Given the description of an element on the screen output the (x, y) to click on. 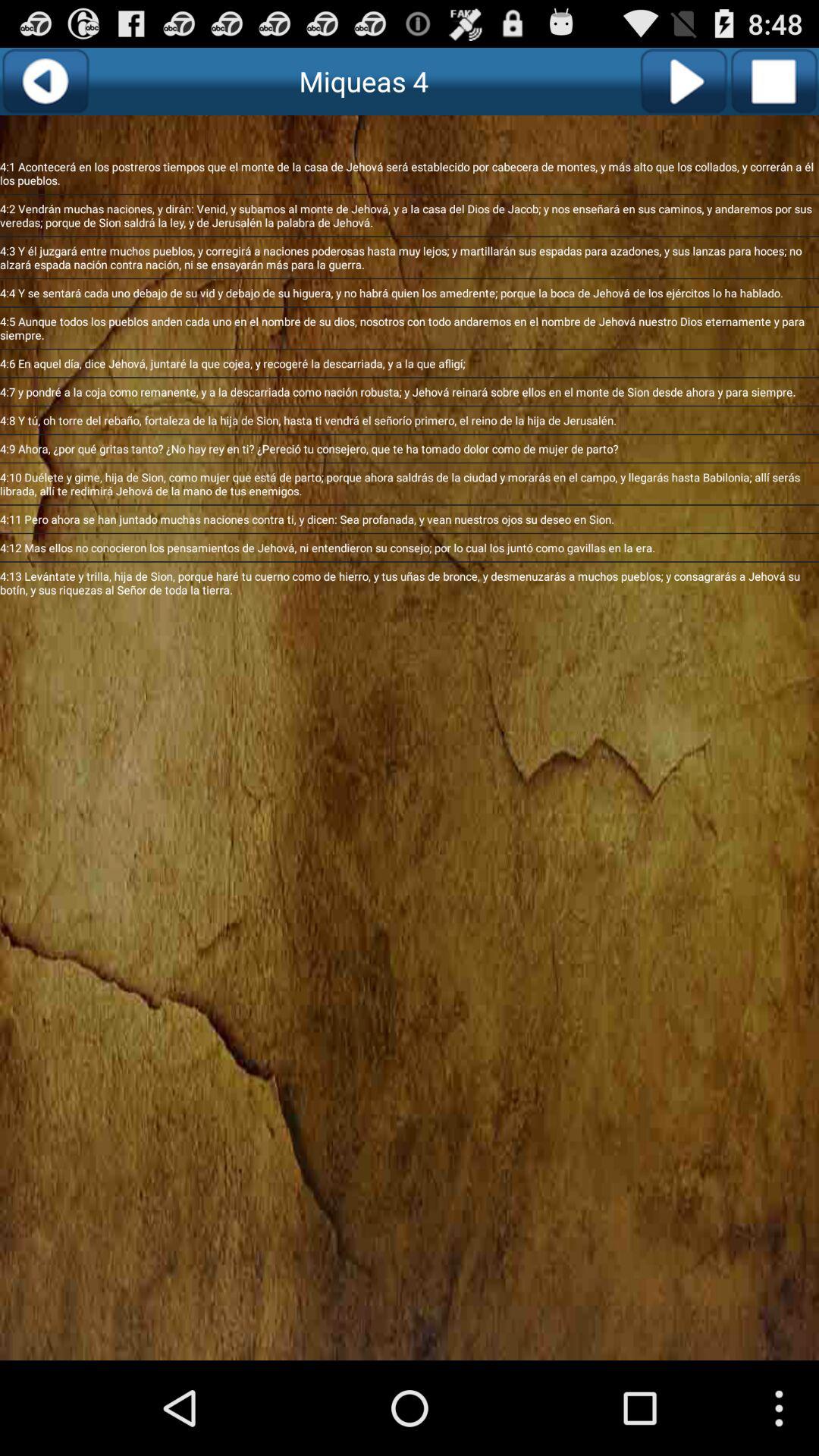
choose icon to the left of miqueas 4 app (45, 81)
